Given the description of an element on the screen output the (x, y) to click on. 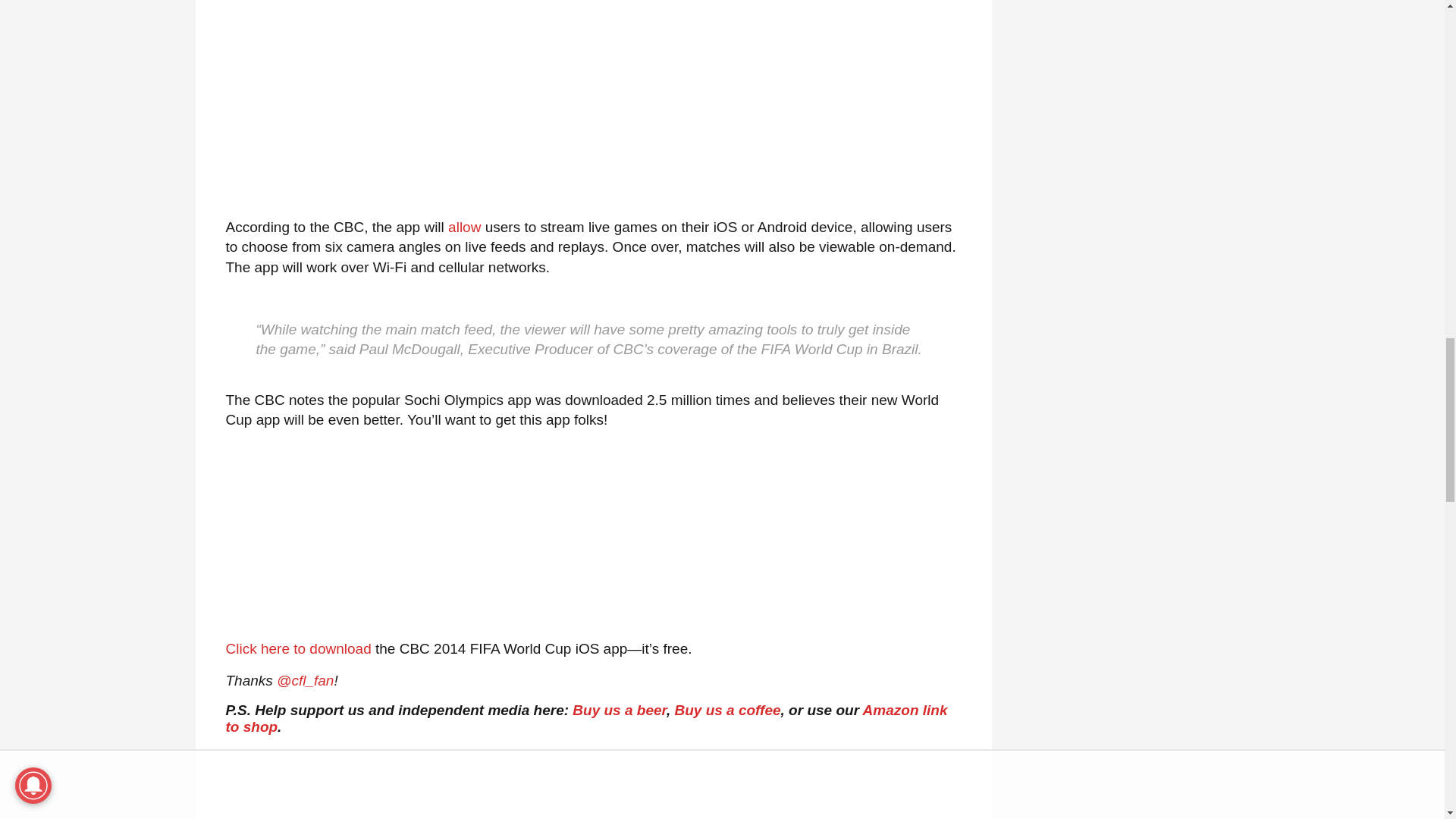
Buy us a beer (619, 709)
Amazon link to shop (586, 717)
allow (464, 227)
Click here to download (298, 648)
Buy us a coffee (727, 709)
